Given the description of an element on the screen output the (x, y) to click on. 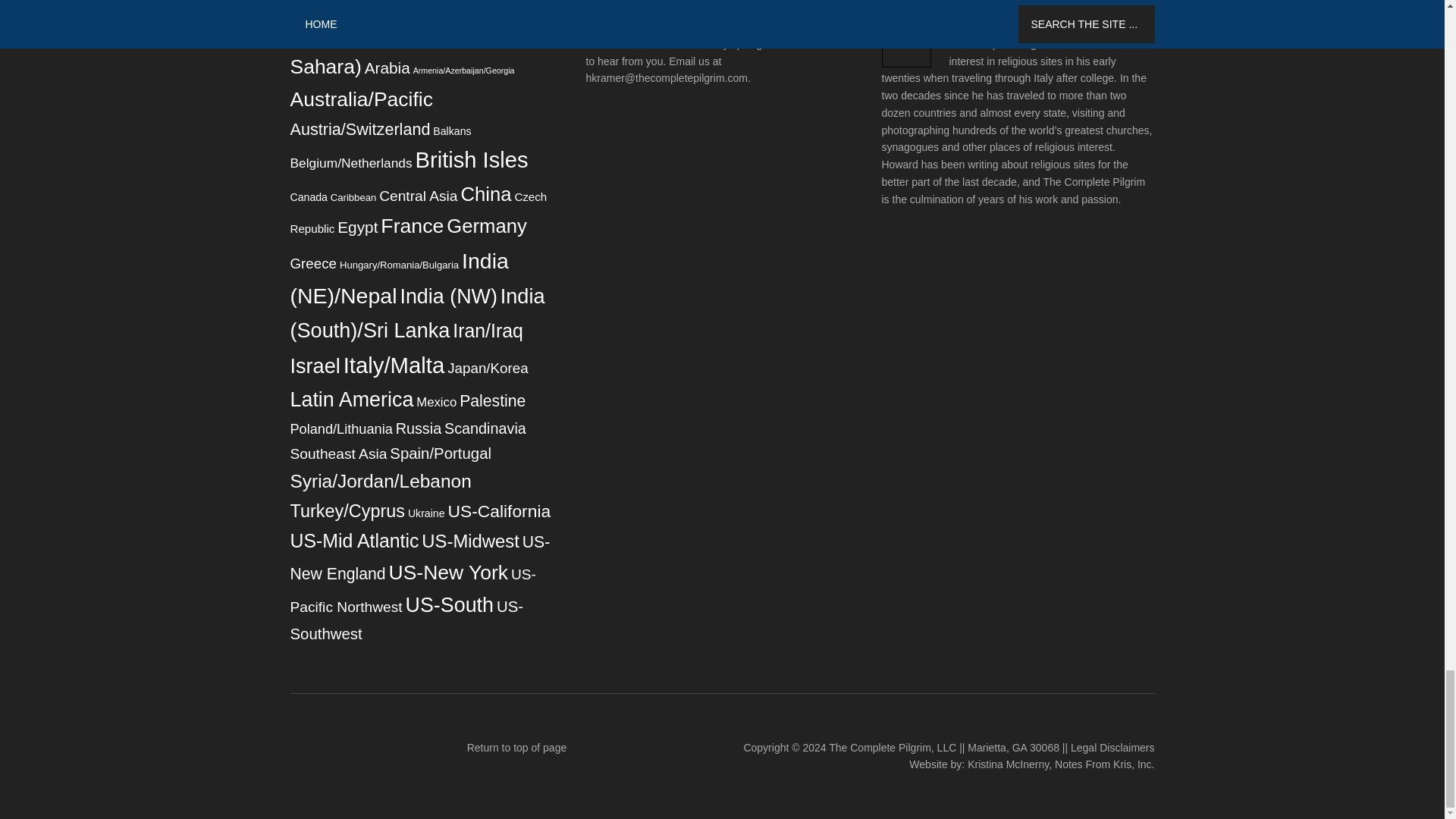
WordPress Web Developer East Cobb (1104, 764)
